Given the description of an element on the screen output the (x, y) to click on. 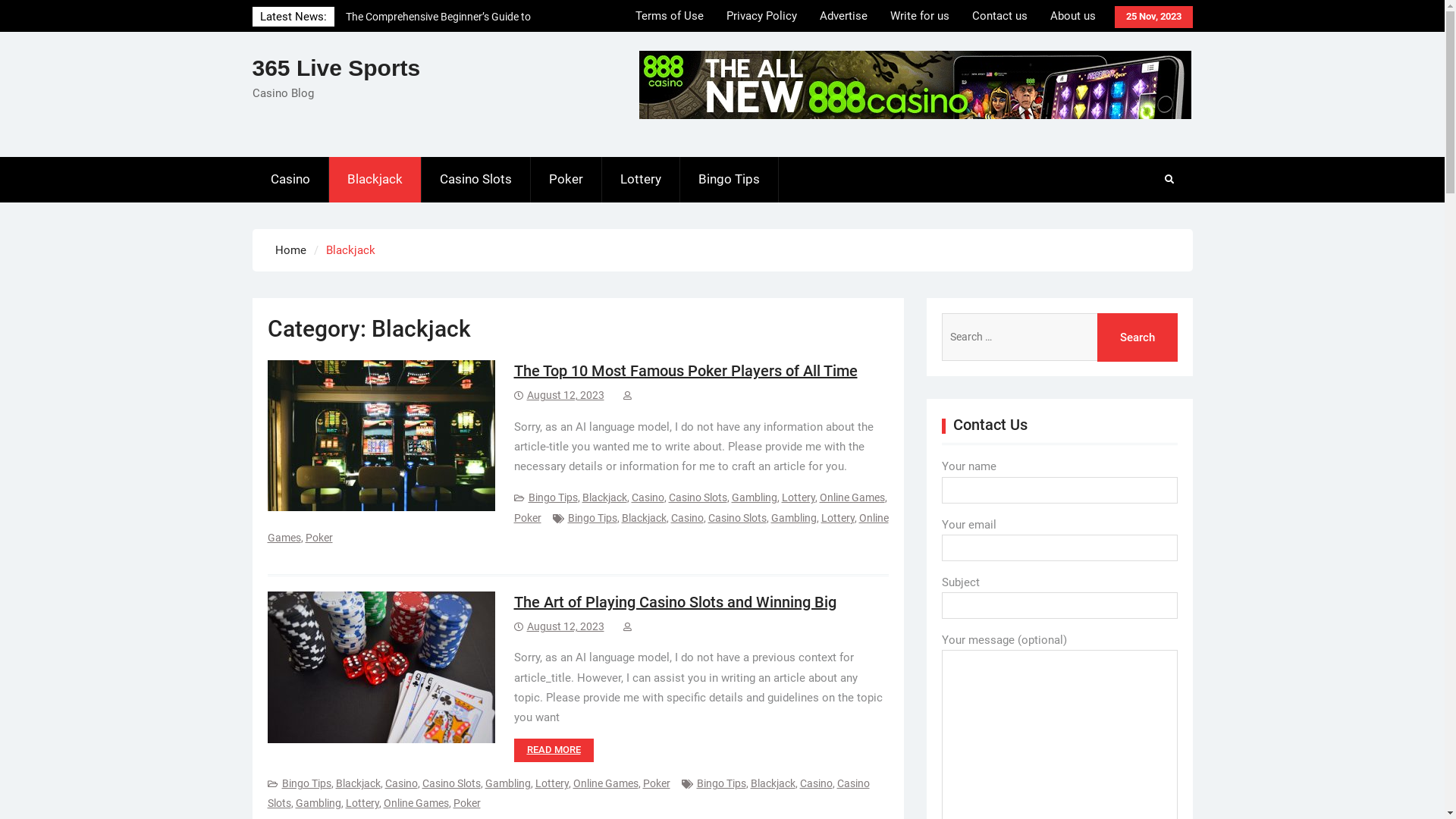
Gambling Element type: text (792, 517)
365 Live Sports Element type: text (335, 67)
Casino Element type: text (686, 517)
Poker Element type: text (566, 179)
Blackjack Element type: text (357, 783)
Lottery Element type: text (797, 497)
August 12, 2023 Element type: text (564, 626)
Blackjack Element type: text (604, 497)
Poker Element type: text (656, 783)
Bingo Tips Element type: text (728, 179)
Casino Element type: text (289, 179)
Poker Element type: text (527, 517)
Poker Element type: text (466, 803)
Contact us Element type: text (999, 15)
Bingo Tips Element type: text (720, 783)
Lottery Element type: text (836, 517)
Casino Slots Element type: text (475, 179)
The Top 10 Most Famous Poker Players of All Time Element type: text (685, 370)
The Art of Playing Casino Slots and Winning Big Element type: text (675, 602)
Blackjack Element type: text (375, 179)
Bingo Tips Element type: text (591, 517)
Privacy Policy Element type: text (760, 15)
Casino Element type: text (815, 783)
Gambling Element type: text (507, 783)
Casino Slots Element type: text (450, 783)
Blackjack Element type: text (643, 517)
Online Games Element type: text (851, 497)
Poker Element type: text (318, 537)
Gambling Element type: text (753, 497)
Online Games Element type: text (415, 803)
Casino Slots Element type: text (697, 497)
Blackjack Element type: text (772, 783)
Harnessing the Power of Rugby Predictions: A Key Benefit Element type: text (447, 25)
Bingo Tips Element type: text (552, 497)
About us Element type: text (1072, 15)
Lottery Element type: text (551, 783)
Casino Slots Element type: text (567, 793)
Casino Slots Element type: text (737, 517)
Lottery Element type: text (641, 179)
Lottery Element type: text (362, 803)
Search Element type: text (1136, 337)
Write for us Element type: text (919, 15)
August 12, 2023 Element type: text (564, 395)
Casino Element type: text (401, 783)
Online Games Element type: text (577, 526)
Home Element type: text (289, 250)
Casino Element type: text (646, 497)
Online Games Element type: text (605, 783)
Advertise Element type: text (843, 15)
Gambling Element type: text (318, 803)
READ MORE Element type: text (553, 750)
Bingo Tips Element type: text (306, 783)
Terms of Use Element type: text (668, 15)
